Given the description of an element on the screen output the (x, y) to click on. 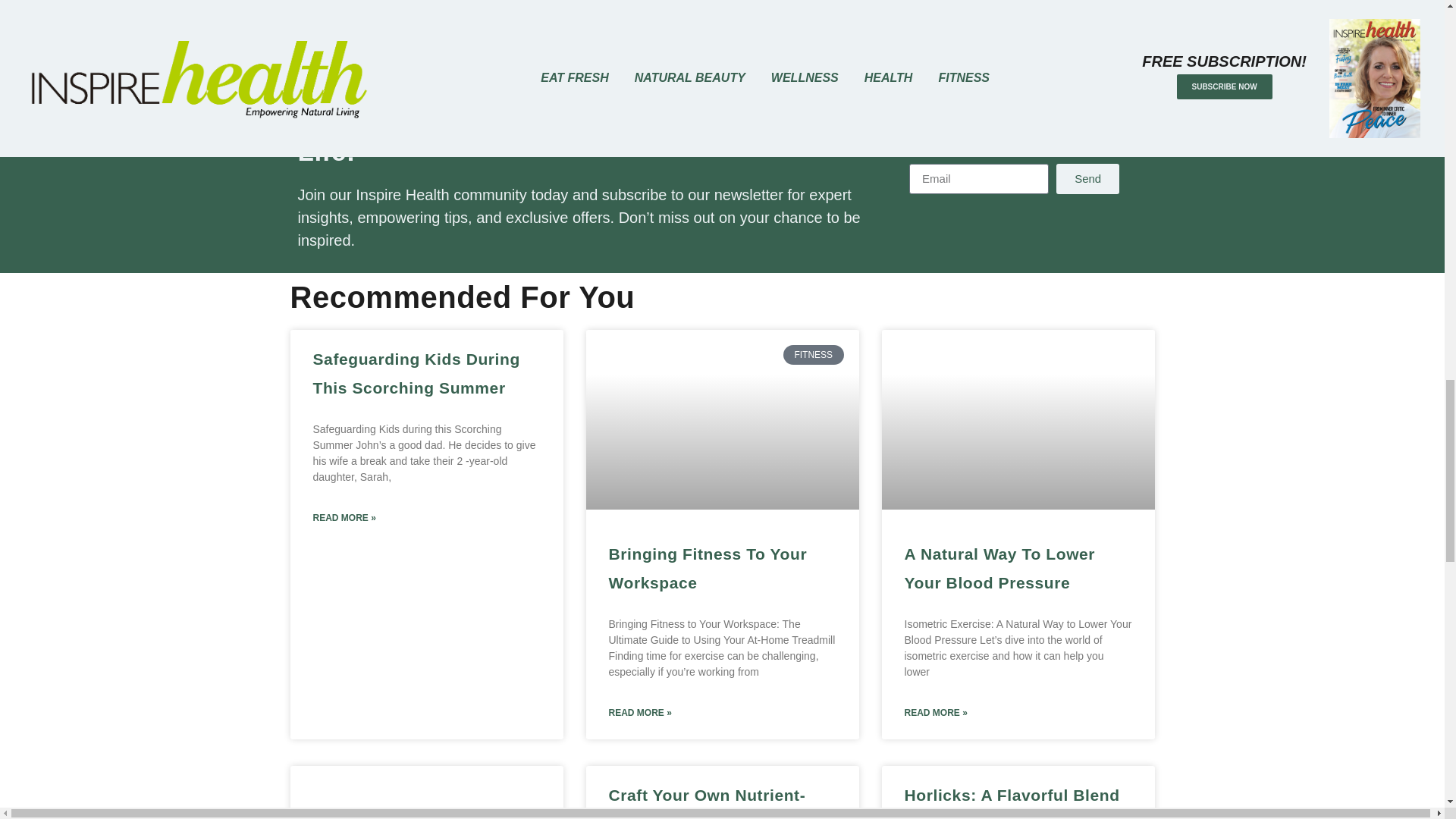
Bringing Fitness To Your Workspace (707, 568)
Craft Your Own Nutrient-Packed Elixir (706, 802)
Send (1088, 178)
Safeguarding Kids During This Scorching Summer (416, 373)
A Natural Way To Lower Your Blood Pressure (999, 568)
Horlicks: A Flavorful Blend Of Health And Heritage (1011, 802)
